Given the description of an element on the screen output the (x, y) to click on. 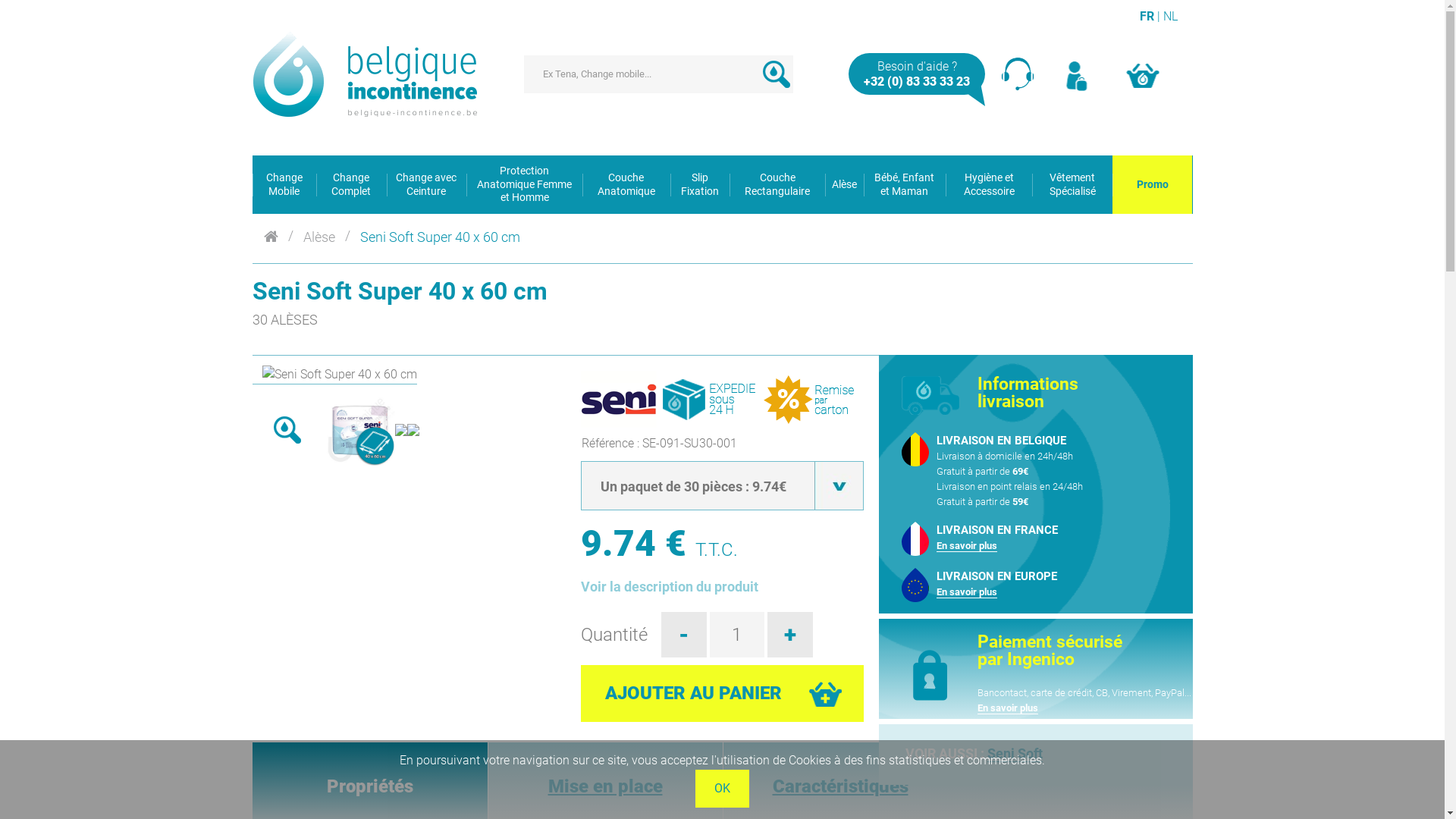
panier Element type: hover (1141, 73)
Slip Fixation Element type: text (700, 184)
En savoir plus Element type: text (966, 592)
Voir la description du produit Element type: text (669, 585)
Accueil Element type: hover (270, 235)
ok Element type: text (775, 73)
zoom Element type: hover (286, 429)
NL Element type: text (1170, 16)
Belgique Element type: text (914, 449)
Seni Soft Element type: text (1014, 753)
Promo Element type: text (1152, 184)
+ Element type: text (789, 633)
Couche Anatomique Element type: text (626, 184)
Seni Soft Super 40 x 60 cm Element type: text (439, 235)
En savoir plus Element type: text (1007, 708)
LIVRAISON EN EUROPE Element type: text (996, 576)
- Element type: text (683, 633)
Couche Rectangulaire Element type: text (777, 184)
Europe Element type: text (914, 584)
Protection Anatomique Femme et Homme Element type: text (524, 184)
Change avec Ceinture Element type: text (426, 184)
Accueil Element type: hover (364, 73)
Change Complet Element type: text (350, 184)
Seni Soft Super 40 x 60 cm Element type: text (398, 290)
LIVRAISON EN FRANCE Element type: text (996, 529)
OK Element type: text (722, 787)
En savoir plus Element type: text (966, 545)
LIVRAISON EN BELGIQUE Element type: text (1001, 440)
Ajouter au panier Element type: text (721, 692)
OK Element type: text (722, 788)
Change Mobile Element type: text (283, 184)
FR Element type: text (1146, 16)
